Given the description of an element on the screen output the (x, y) to click on. 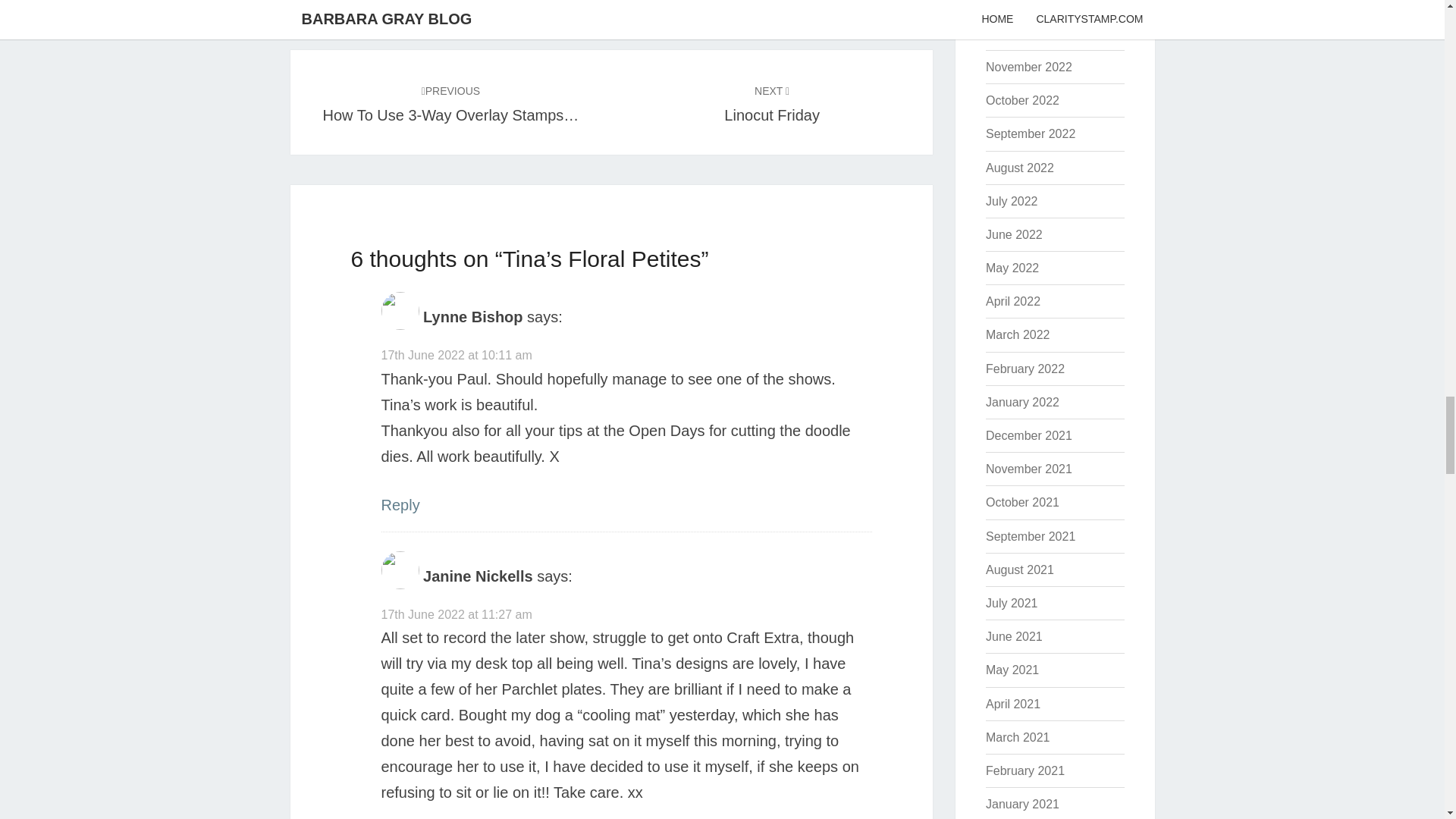
17th June 2022 at 11:27 am (455, 614)
Reply (399, 504)
17th June 2022 at 10:11 am (455, 354)
